Given the description of an element on the screen output the (x, y) to click on. 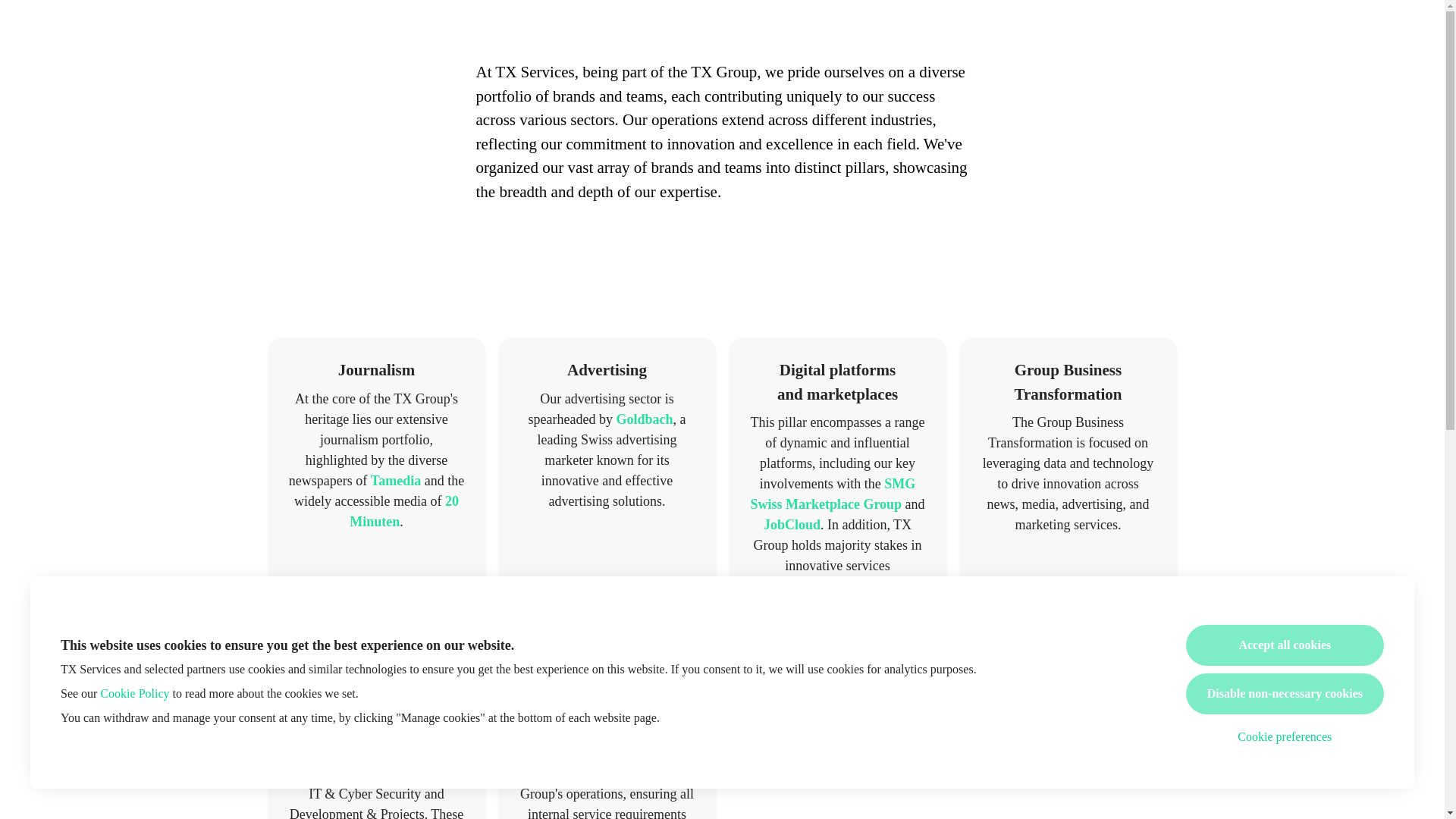
Goldbach (643, 418)
Cookie preferences (1284, 736)
Disable non-necessary cookies (1285, 693)
SMG Swiss Marketplace Group (832, 493)
Cookie Policy (134, 693)
Accept all cookies (1285, 644)
JobCloud (791, 524)
20 Minuten (403, 510)
Tamedia (395, 480)
Doodle (797, 585)
